Given the description of an element on the screen output the (x, y) to click on. 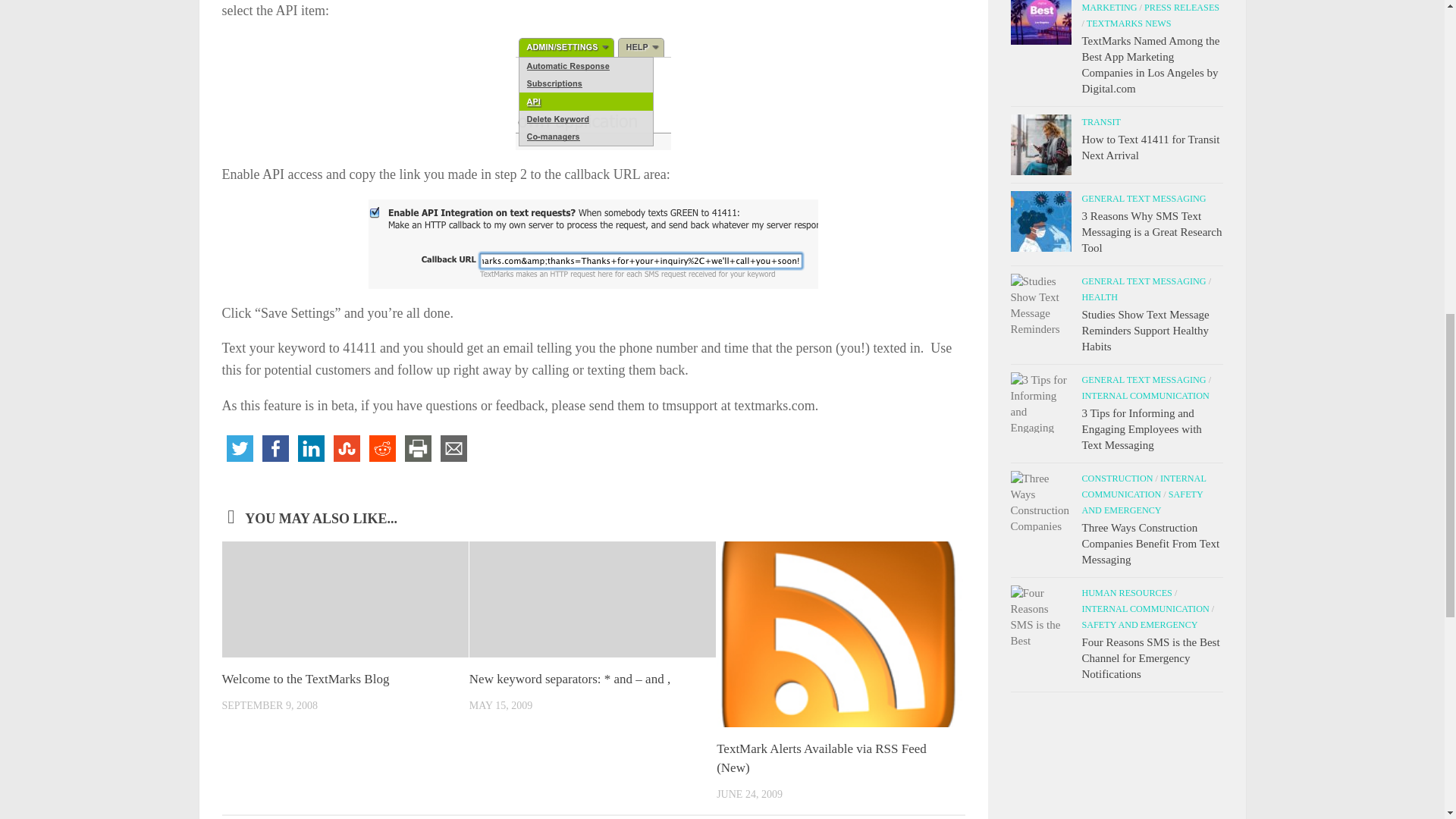
Callback URL (593, 244)
API menu item (593, 92)
linkedin (310, 448)
facebook (275, 448)
twitter (239, 448)
Welcome to the TextMarks Blog (304, 678)
